Given the description of an element on the screen output the (x, y) to click on. 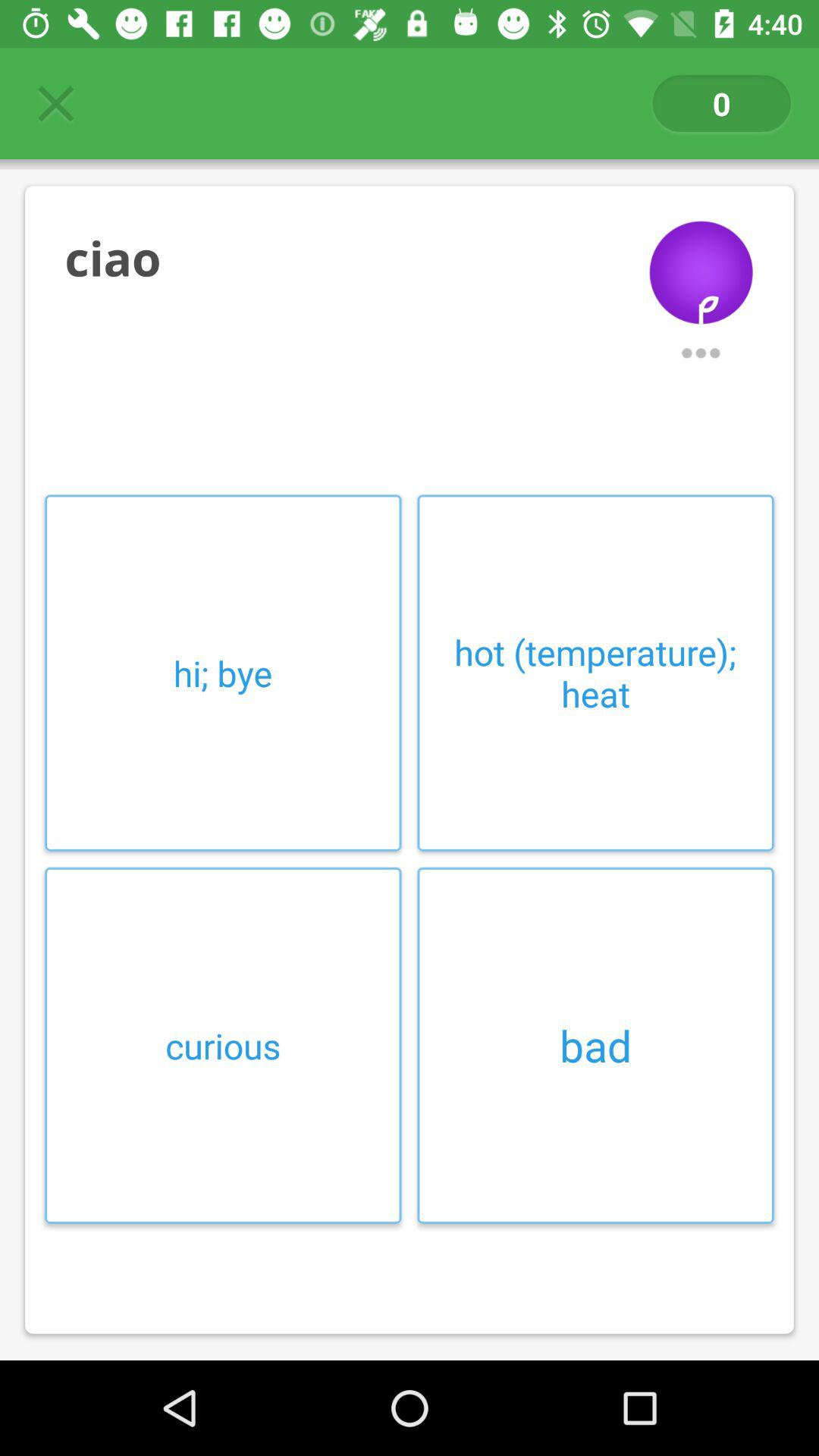
swipe to bad item (595, 1045)
